Given the description of an element on the screen output the (x, y) to click on. 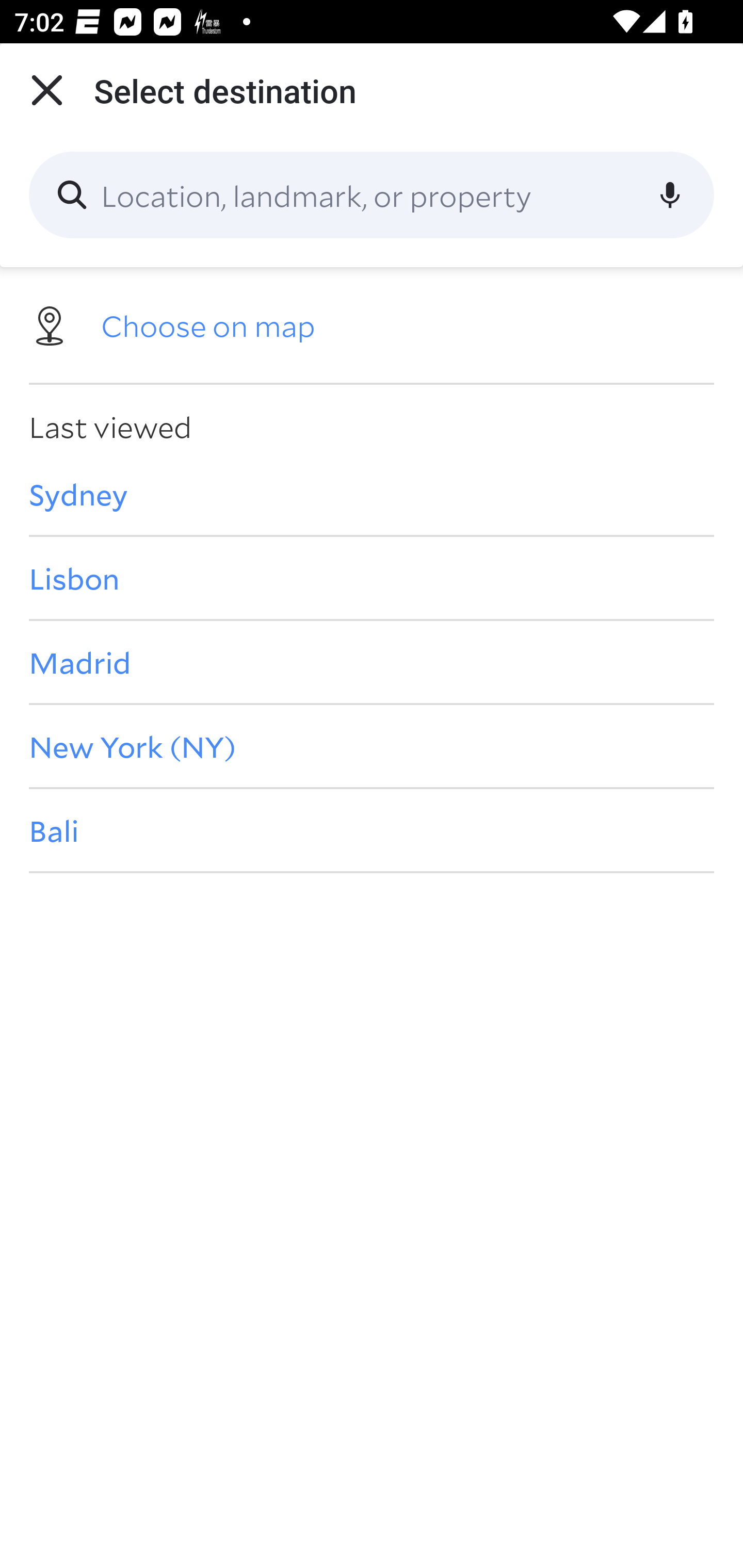
Location, landmark, or property (371, 195)
Choose on map (371, 324)
Sydney (371, 493)
Lisbon (371, 577)
Madrid (371, 661)
New York (NY) (371, 746)
Bali (371, 829)
